Given the description of an element on the screen output the (x, y) to click on. 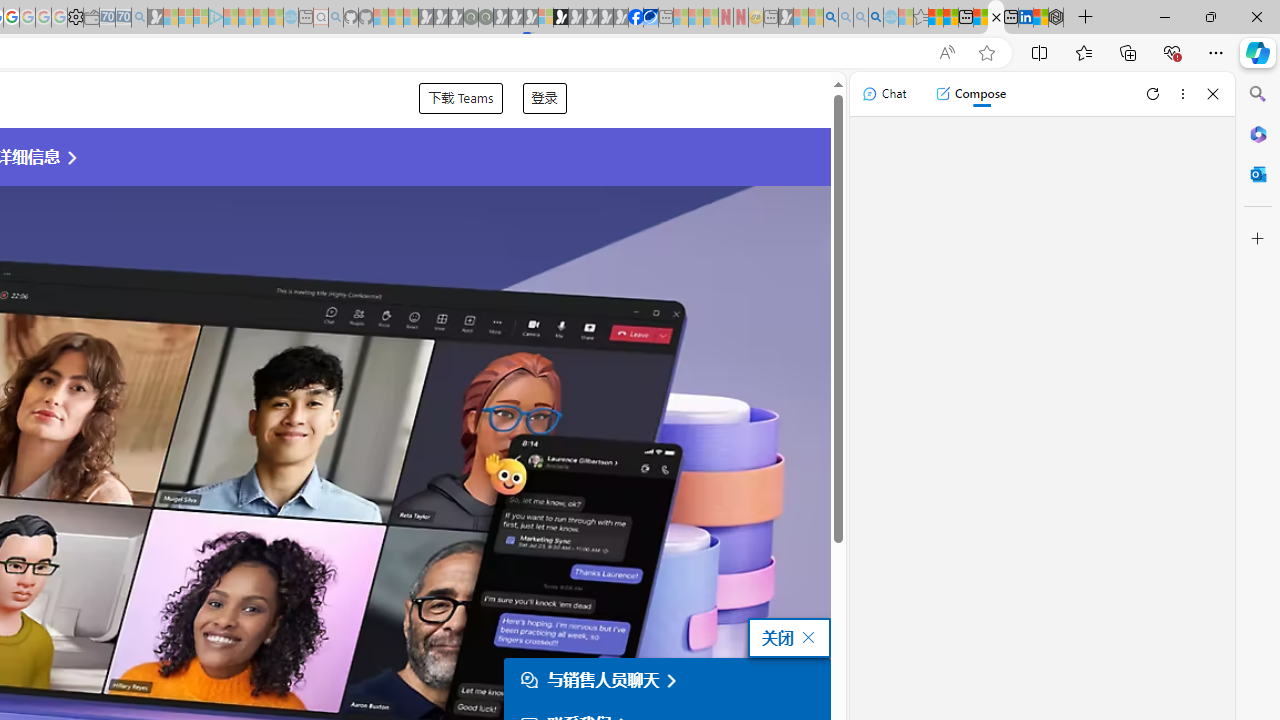
Google Chrome Internet Browser Download - Search Images (876, 17)
Sign in to your account - Sleeping (545, 17)
Microsoft Start Gaming - Sleeping (155, 17)
Wallet - Sleeping (91, 17)
